Given the description of an element on the screen output the (x, y) to click on. 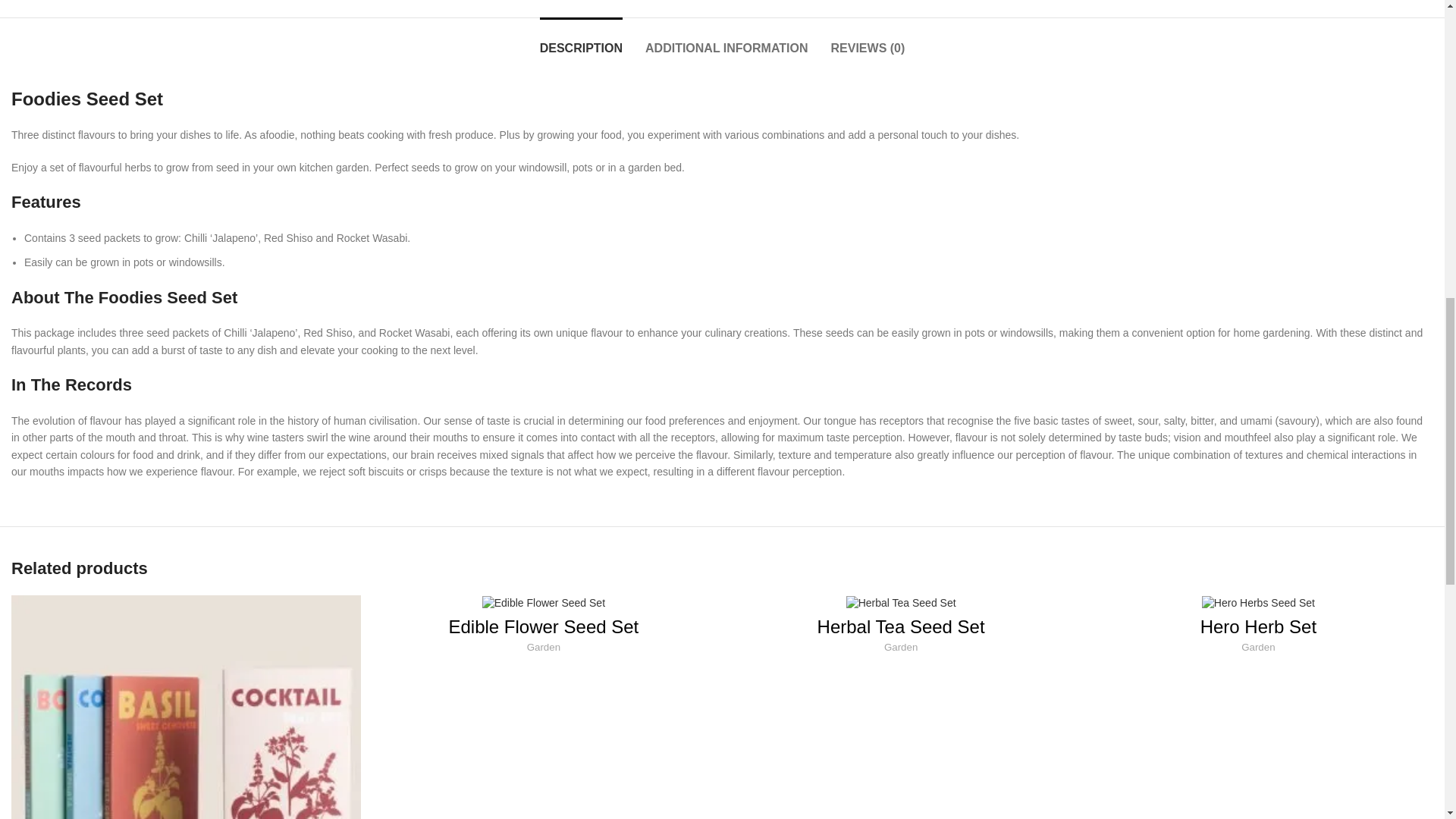
DESCRIPTION (581, 39)
ADDITIONAL INFORMATION (726, 39)
